Given the description of an element on the screen output the (x, y) to click on. 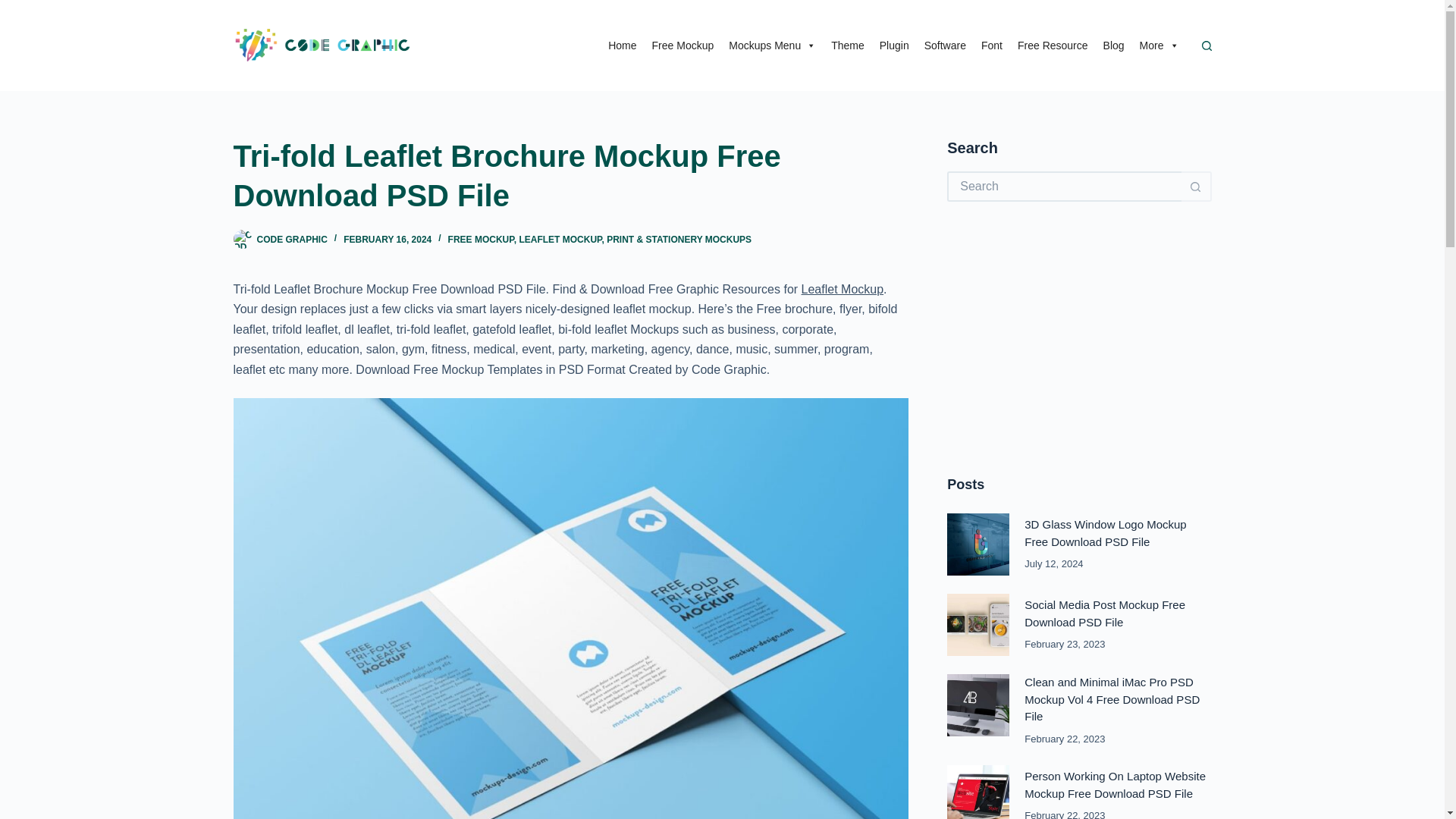
Tri-fold Leaflet Brochure Mockup Free Download PSD File (570, 175)
Advertisement (1079, 337)
Posts by Code Graphic (291, 239)
Search for... (1063, 186)
Skip to content (15, 7)
